Given the description of an element on the screen output the (x, y) to click on. 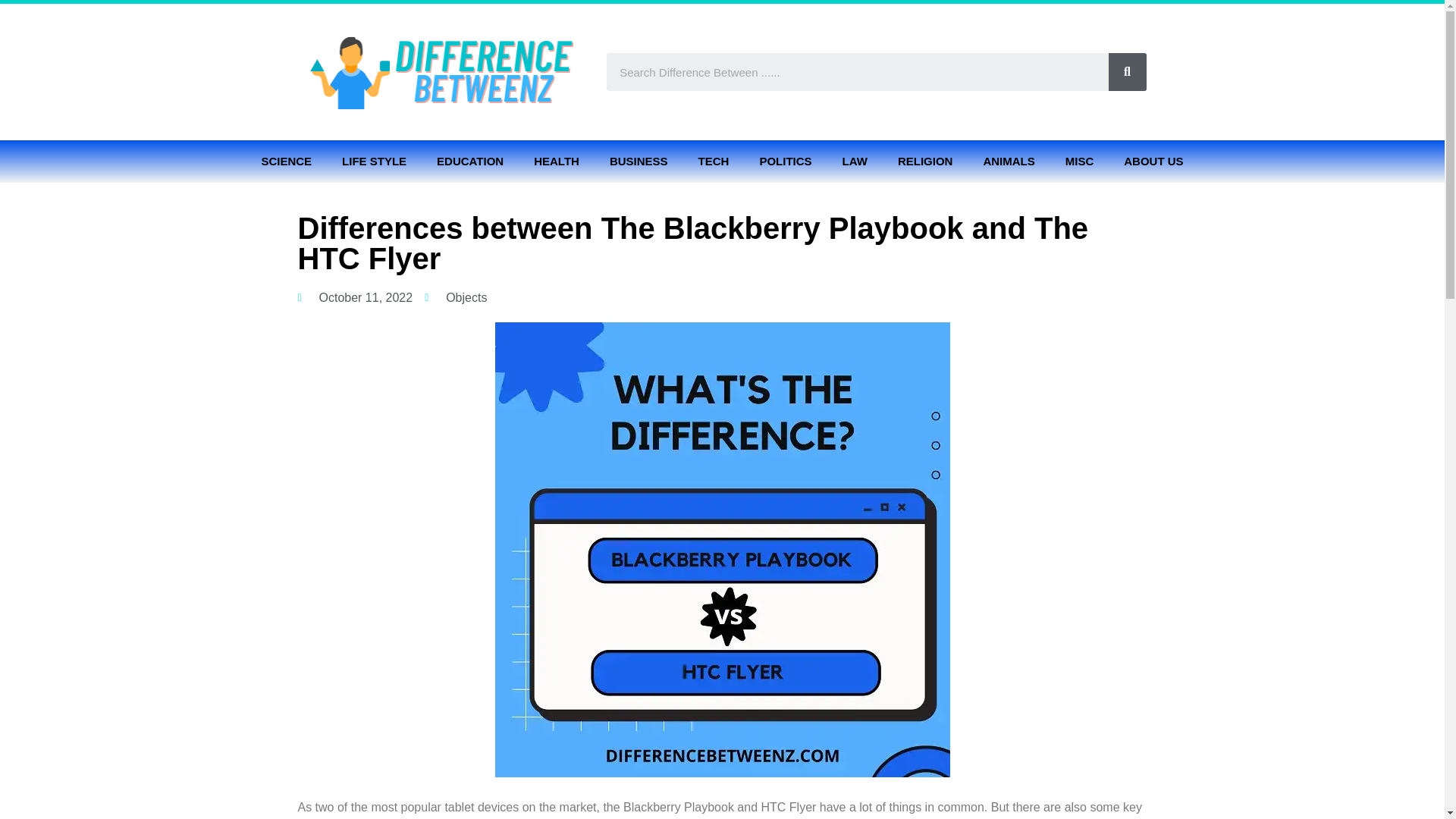
Search (857, 71)
EDUCATION (470, 161)
LIFE STYLE (374, 161)
MISC (1079, 161)
TECH (713, 161)
HEALTH (556, 161)
BUSINESS (638, 161)
ANIMALS (1008, 161)
LAW (854, 161)
RELIGION (925, 161)
ABOUT US (1153, 161)
Search (1127, 71)
SCIENCE (286, 161)
POLITICS (785, 161)
